Given the description of an element on the screen output the (x, y) to click on. 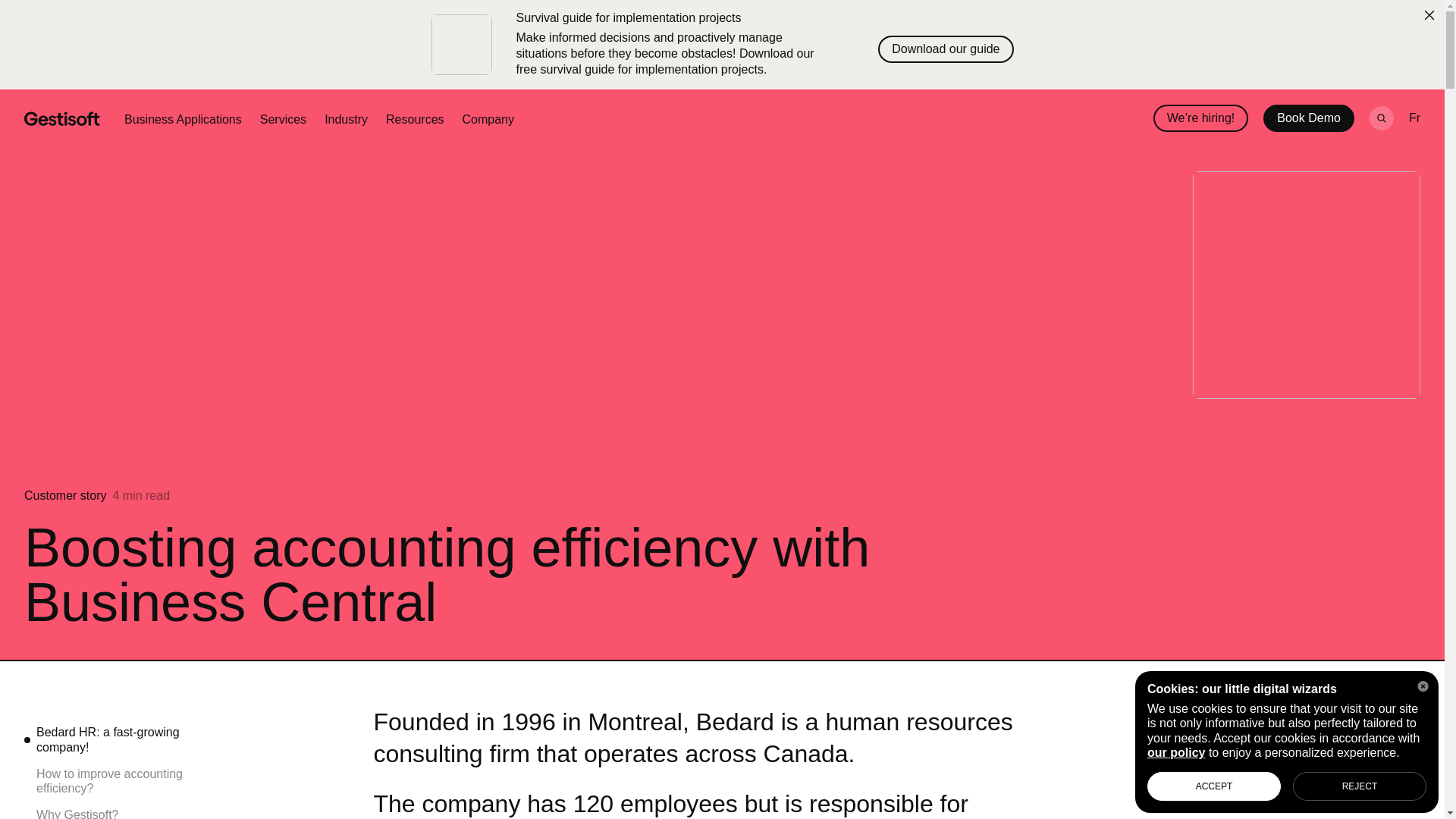
ACCEPT (1214, 786)
Services (282, 119)
Digital Transformation (1326, 801)
How to improve accounting efficiency? (115, 780)
Company (488, 119)
Business Applications (182, 119)
Why Gestisoft? (115, 813)
Download our guide (945, 49)
Bedard HR: a fast-growing company! (115, 738)
